Given the description of an element on the screen output the (x, y) to click on. 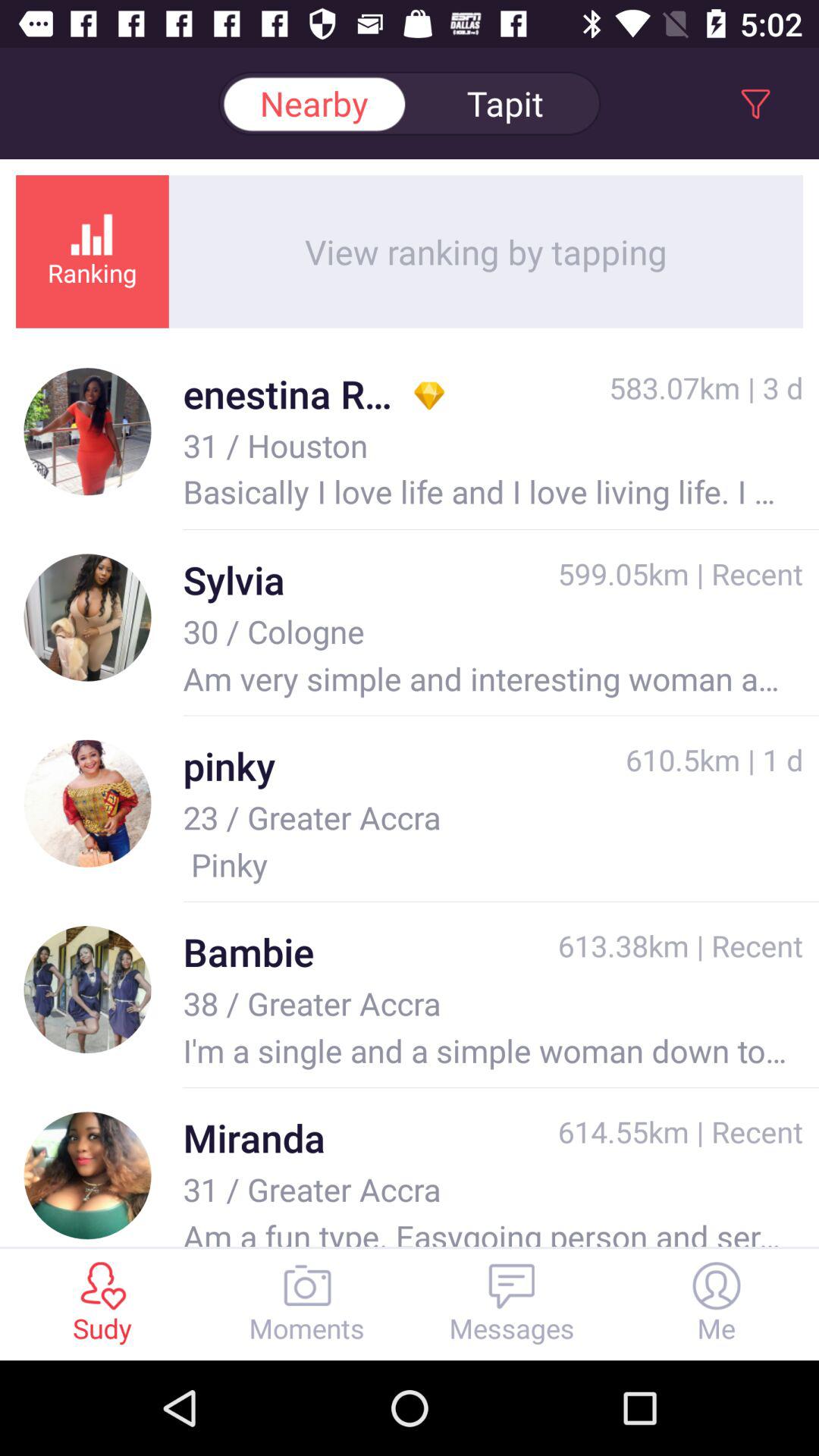
scroll until the tapit icon (504, 103)
